Given the description of an element on the screen output the (x, y) to click on. 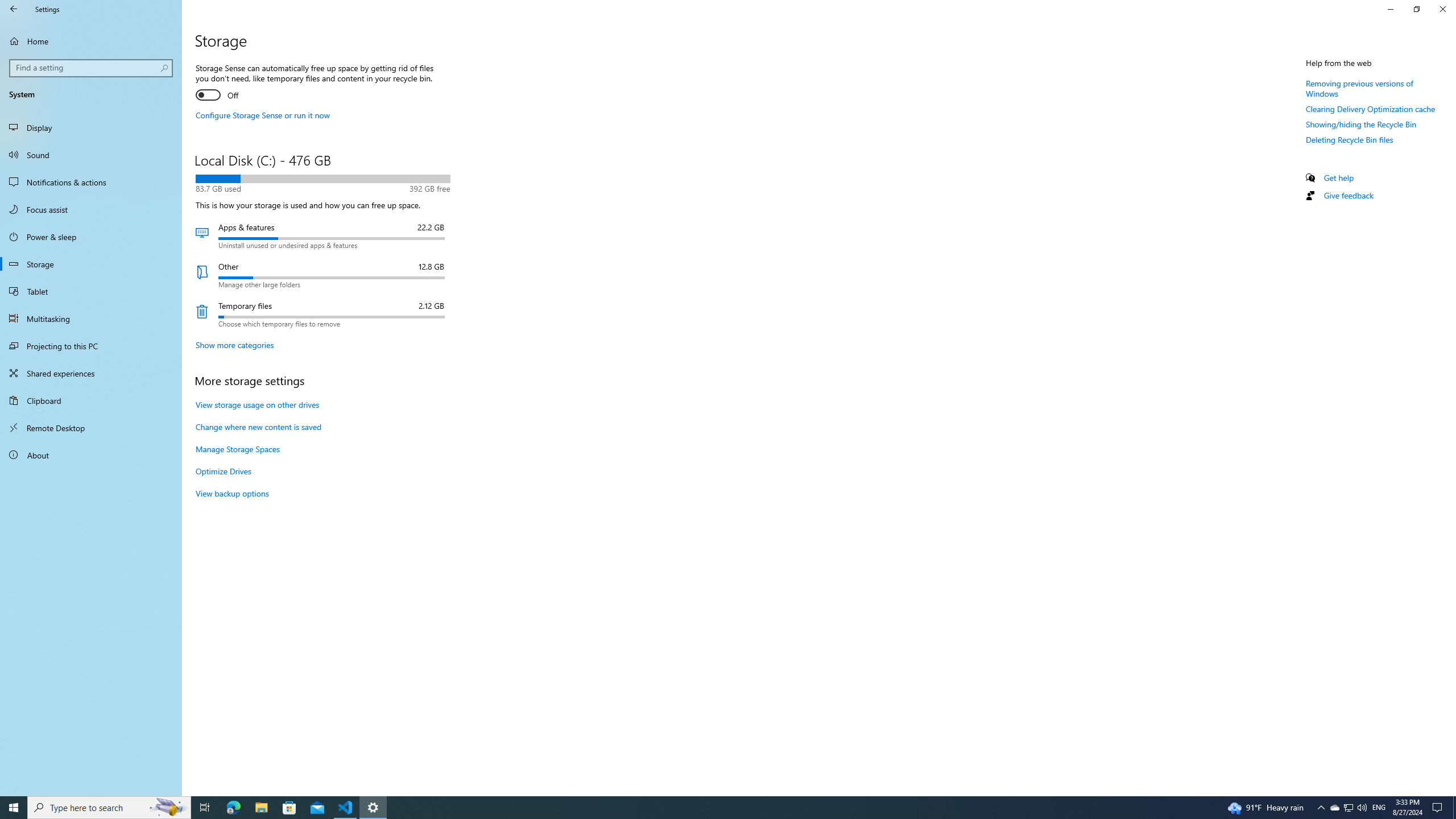
Q2790: 100% (1361, 807)
Show more categories (234, 344)
Other (322, 274)
Microsoft Edge (233, 807)
Visual Studio Code - 1 running window (345, 807)
Optimize Drives (223, 471)
Sound (91, 154)
Search box, Find a setting (91, 67)
User Promoted Notification Area (1347, 807)
Get help (1338, 177)
Give feedback (1348, 195)
Apps & features (322, 235)
Tray Input Indicator - English (United States) (1378, 807)
Multitasking (91, 318)
Settings - 1 running window (373, 807)
